Given the description of an element on the screen output the (x, y) to click on. 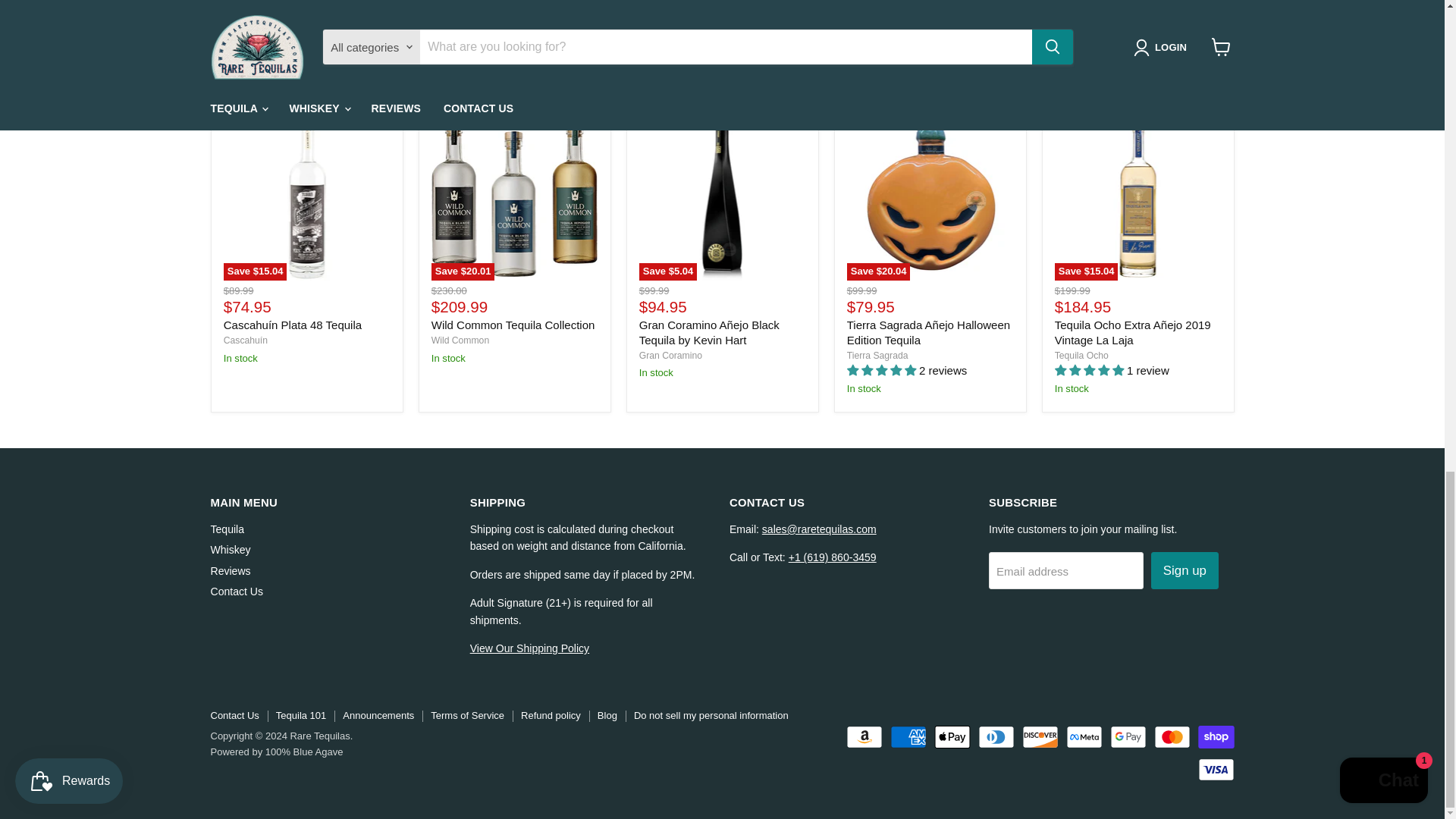
Amazon (863, 736)
Apple Pay (952, 736)
Tequila Ocho (1081, 355)
Shipping Policy (529, 648)
Tierra Sagrada (877, 355)
Wild Common (459, 339)
American Express (907, 736)
Diners Club (996, 736)
Discover (1040, 736)
Gran Coramino (670, 355)
